Given the description of an element on the screen output the (x, y) to click on. 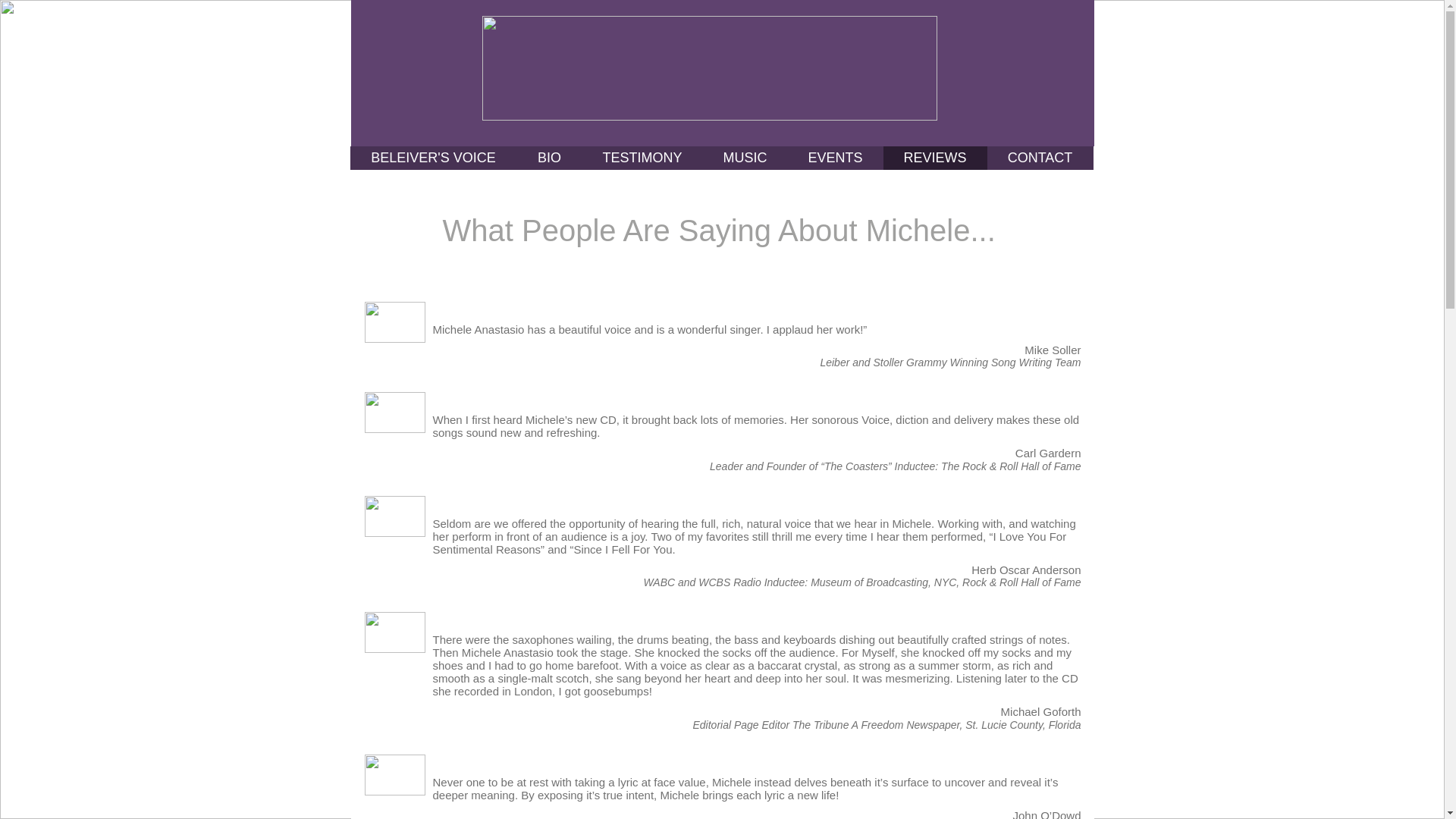
EVENTS (834, 157)
CONTACT (1040, 157)
BIO (549, 157)
TESTIMONY (642, 157)
BELEIVER'S VOICE (433, 157)
REVIEWS (934, 157)
MUSIC (744, 157)
